Given the description of an element on the screen output the (x, y) to click on. 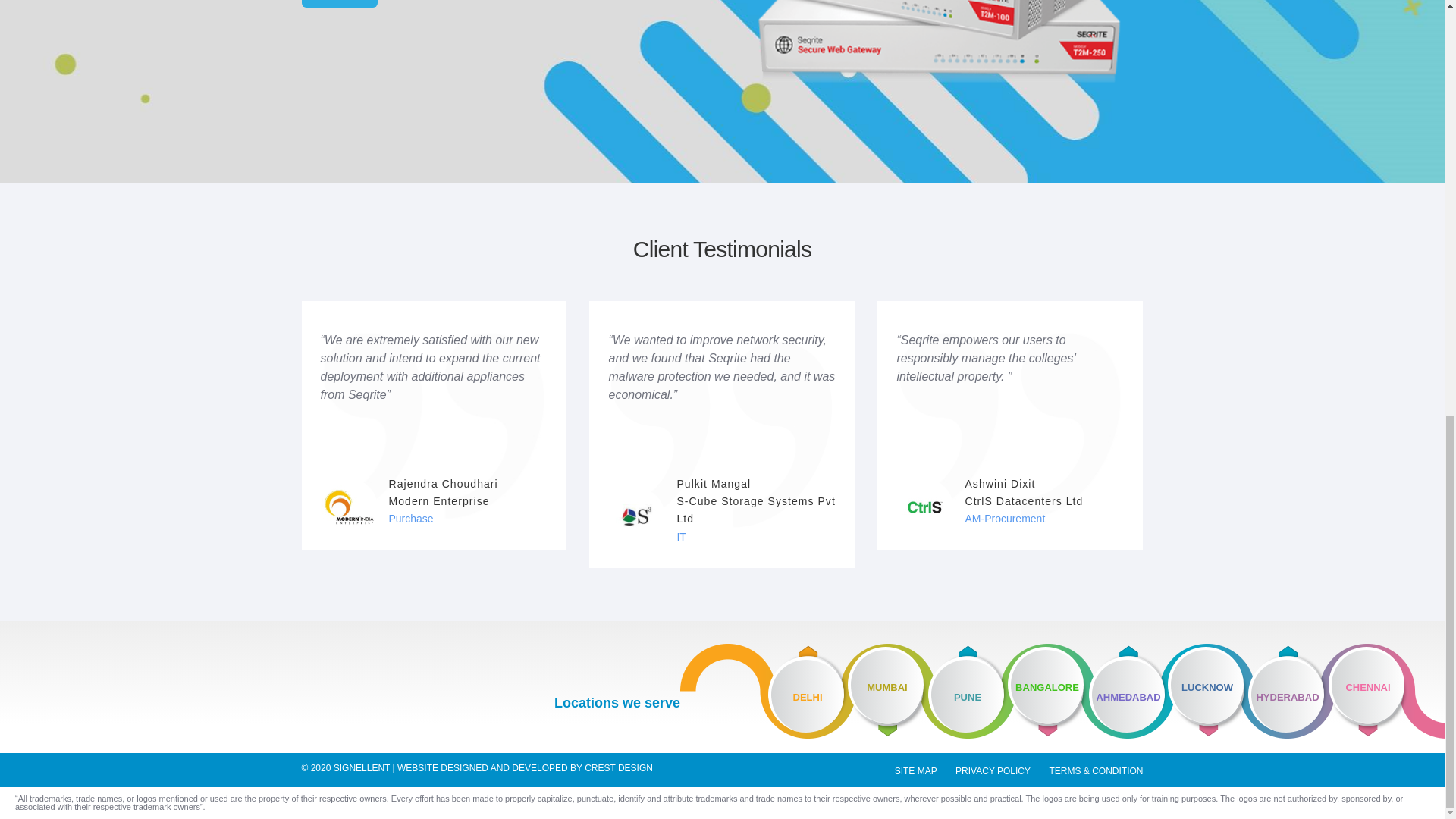
PUNE (967, 691)
AHMEDABAD (1128, 691)
LUCKNOW (1207, 689)
DELHI (807, 691)
CONTACT US (339, 3)
CHENNAI (1385, 690)
HYDERABAD (1287, 691)
MUMBAI (887, 689)
Locations we serve (616, 702)
BANGALORE (1048, 689)
